Given the description of an element on the screen output the (x, y) to click on. 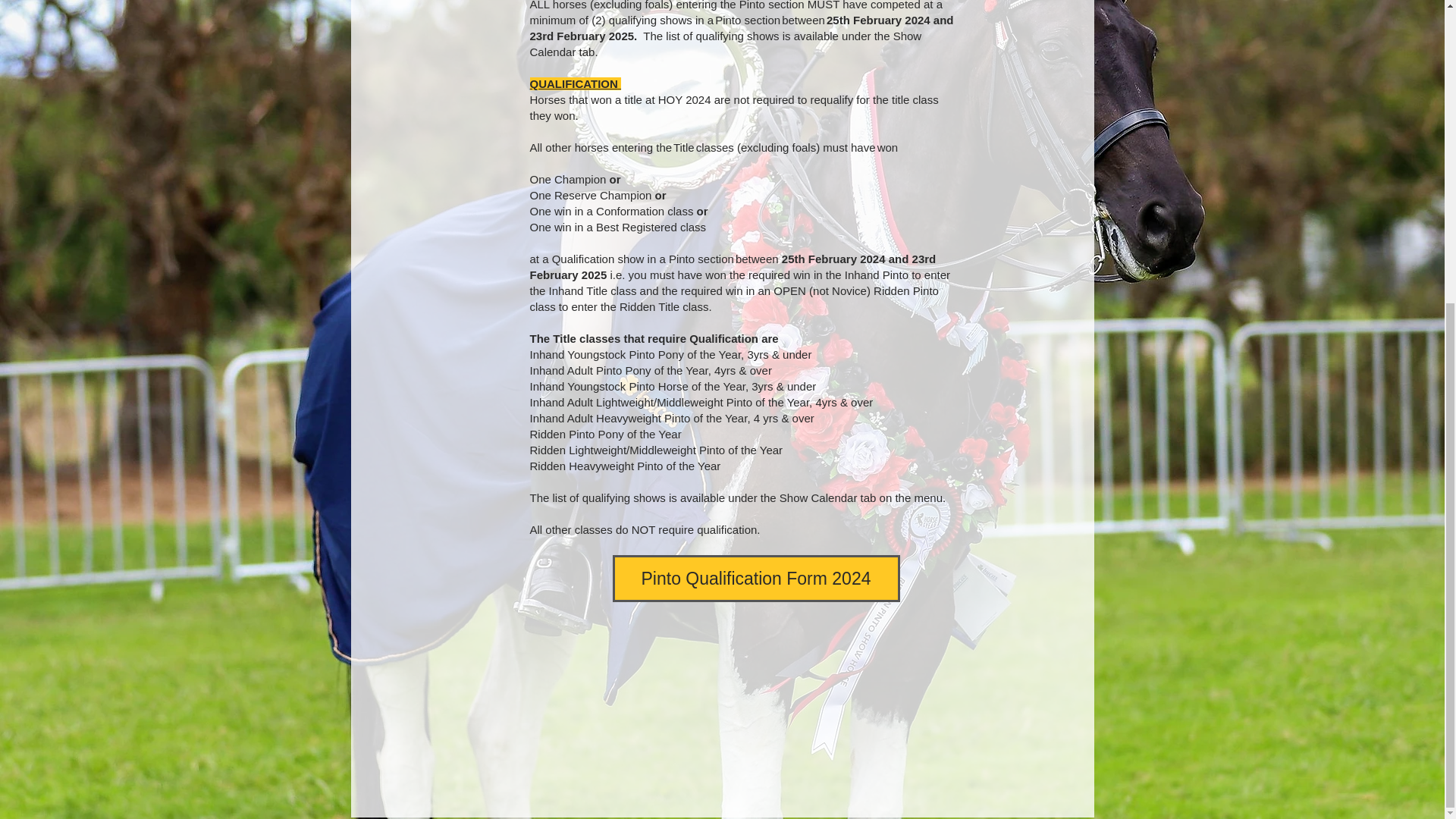
Pinto Qualification Form 2024 (755, 578)
